Given the description of an element on the screen output the (x, y) to click on. 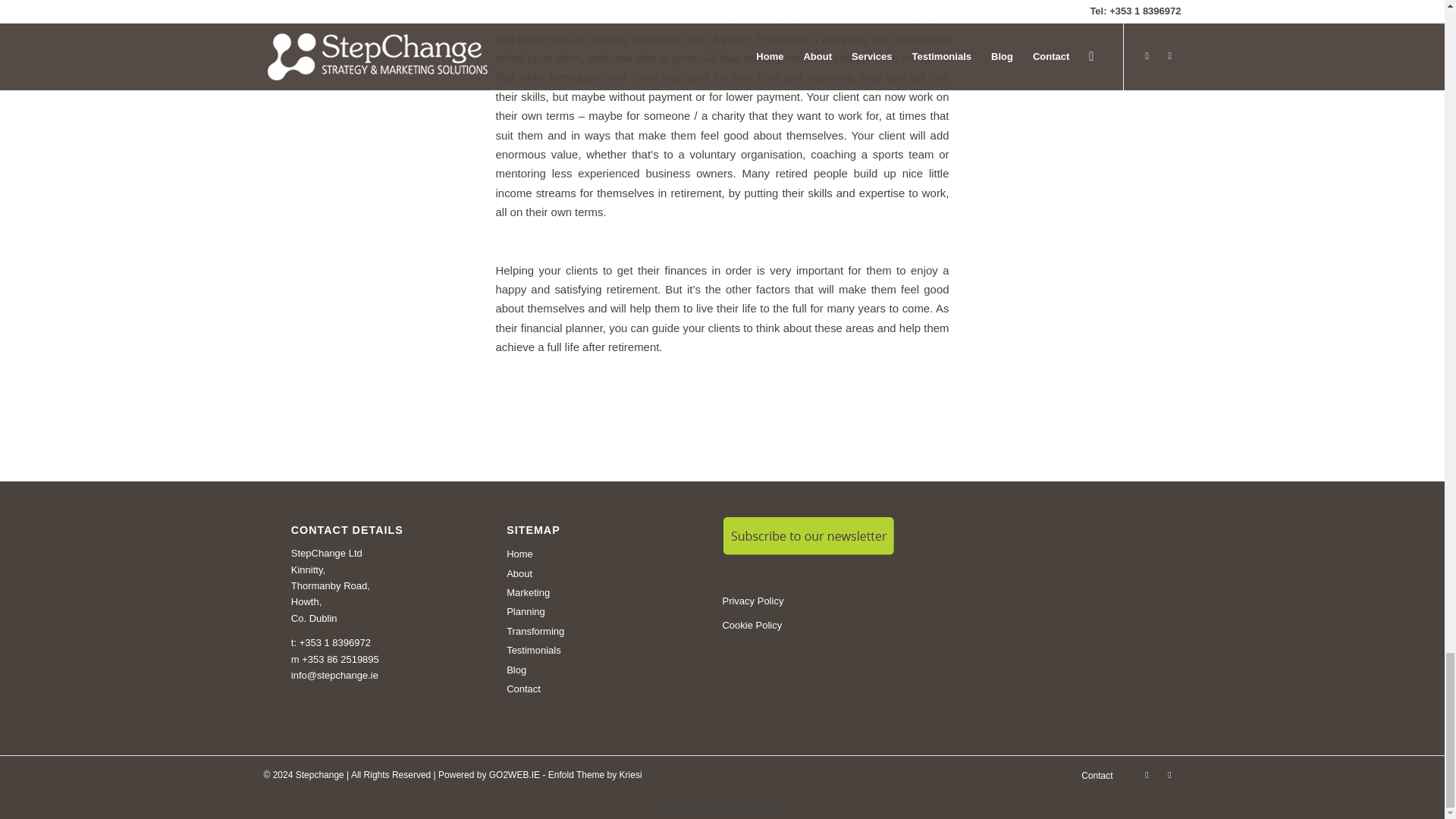
X (1146, 774)
Blog (600, 668)
Cookie Policy (751, 624)
Contact (600, 687)
Home (600, 551)
LinkedIn (1169, 774)
GO2WEB.IE (514, 774)
Marketing (600, 590)
Contact (1096, 775)
Planning (600, 609)
Enfold Theme by Kriesi (595, 774)
About (600, 571)
Privacy Policy (752, 600)
Testimonials (600, 648)
Transforming (600, 629)
